Given the description of an element on the screen output the (x, y) to click on. 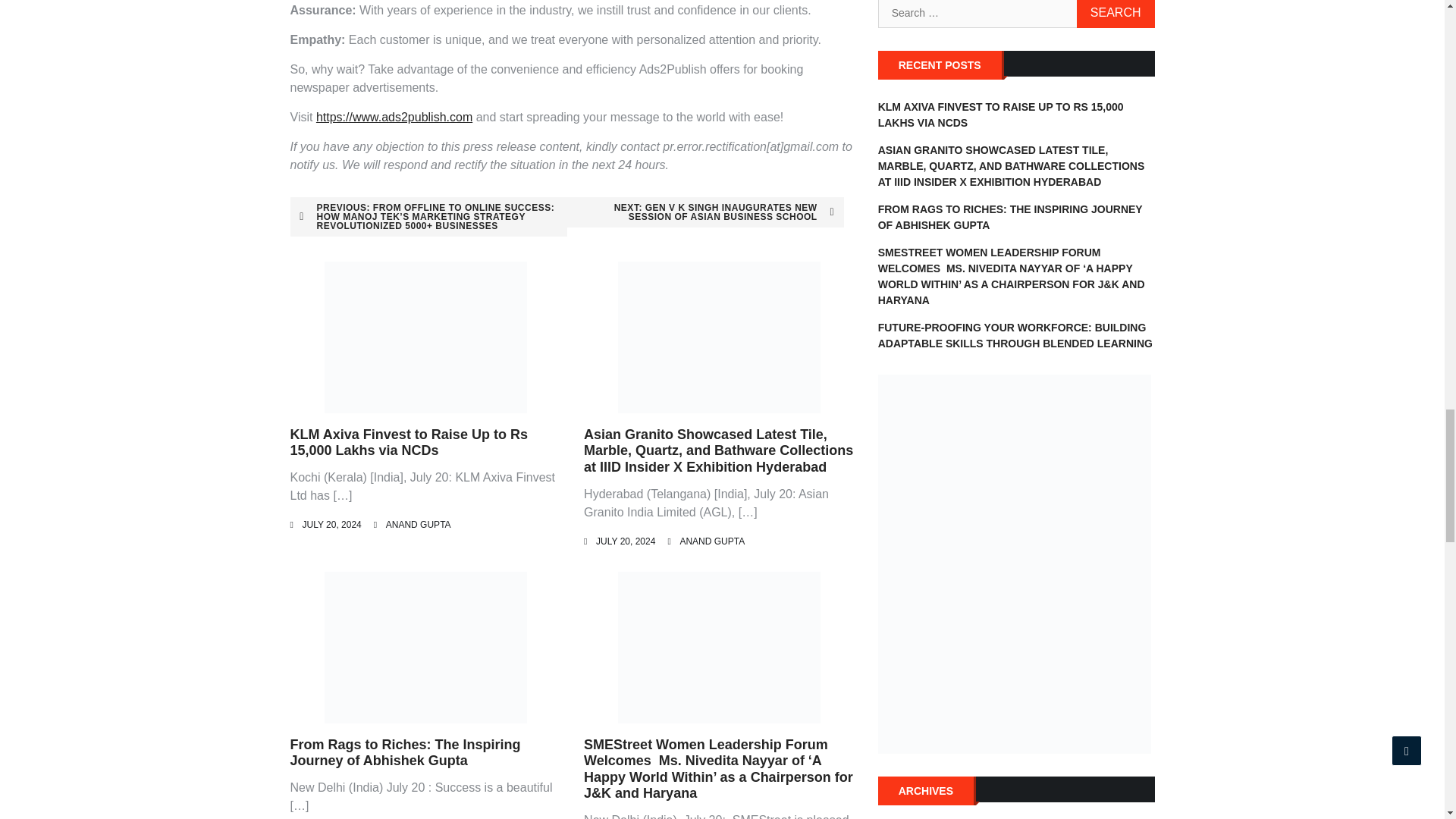
JULY 20, 2024 (331, 524)
ANAND GUPTA (711, 541)
From Rags to Riches: The Inspiring Journey of Abhishek Gupta (404, 753)
ANAND GUPTA (418, 524)
Search (1115, 13)
KLM Axiva Finvest to Raise Up to Rs 15,000 Lakhs via NCDs (408, 442)
JULY 20, 2024 (625, 541)
Search (1115, 13)
